Given the description of an element on the screen output the (x, y) to click on. 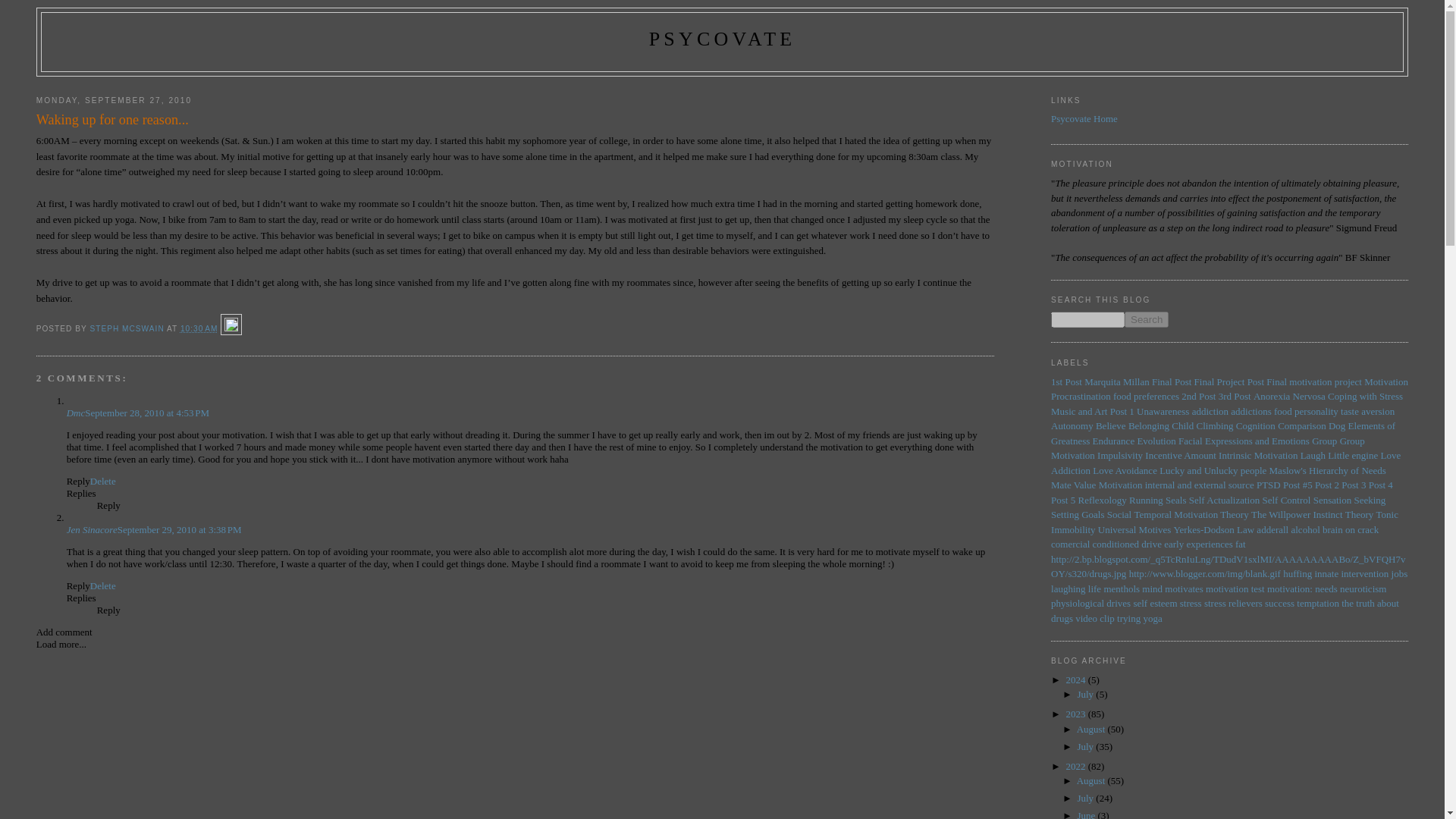
search (1146, 319)
Delete (103, 480)
Reply (78, 480)
Jen Sinacore (91, 529)
Dmc (75, 412)
author profile (127, 328)
Final Project Post (1228, 381)
Search (1146, 319)
Psycovate Home (1084, 118)
STEPH MCSWAIN (127, 328)
Procrastination (1080, 396)
Marquita Millan (1117, 381)
Reply (108, 609)
